Given the description of an element on the screen output the (x, y) to click on. 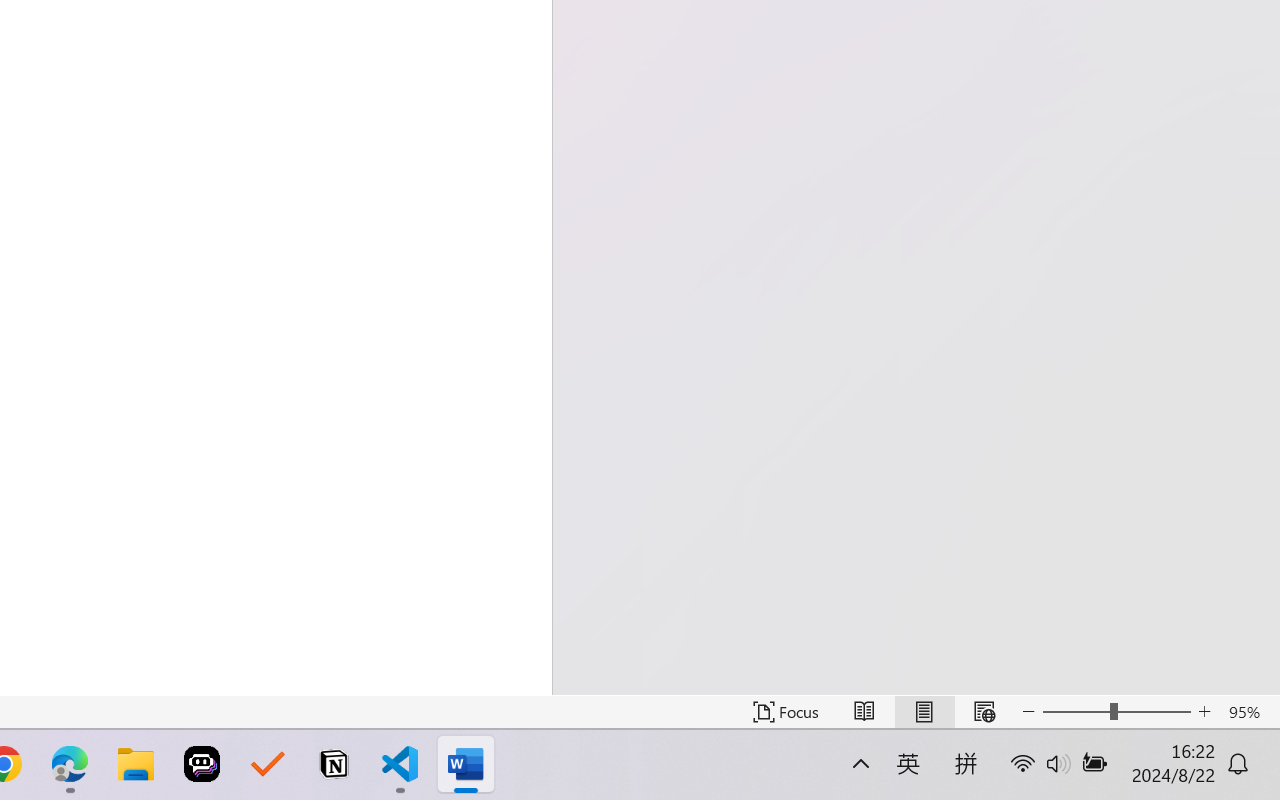
Q2790: 100% (1092, 777)
Zoom 139% (1234, 743)
Action Center, 1 new notification (1250, 777)
Tray Input Indicator - Chinese (Simplified, China) (1144, 777)
AutomationID: 4105 (1115, 777)
Notification Chevron (1000, 777)
